Given the description of an element on the screen output the (x, y) to click on. 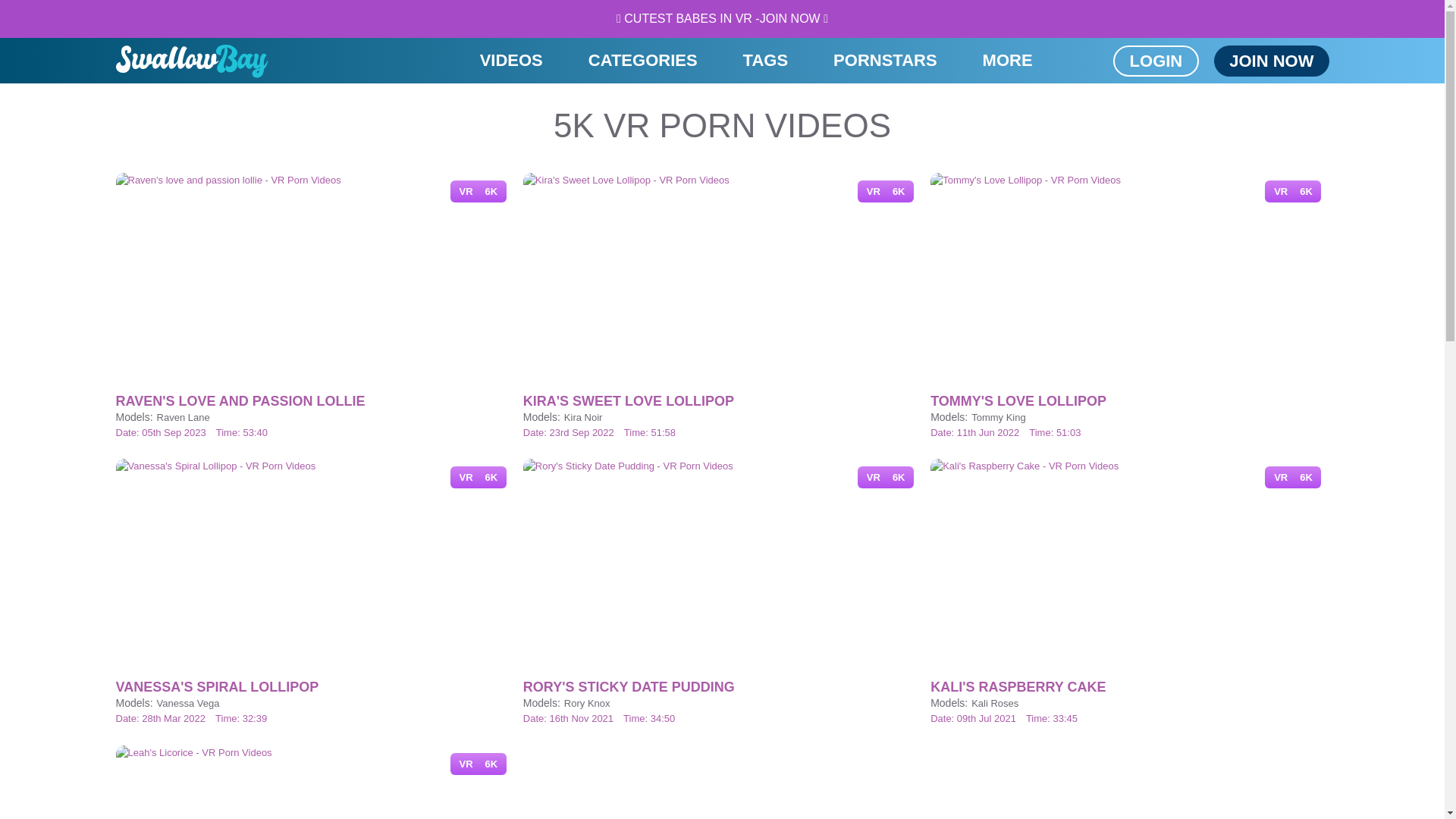
VR Porn Videos (191, 60)
Videos (511, 60)
TOMMY'S LOVE LOLLIPOP (1128, 401)
KIRA'S SWEET LOVE LOLLIPOP (721, 401)
RAVEN'S LOVE AND PASSION LOLLIE (314, 401)
JOIN NOW (1270, 60)
MORE (1007, 60)
TAGS (765, 60)
VANESSA'S SPIRAL LOLLIPOP (314, 686)
PORNSTARS (884, 60)
